Given the description of an element on the screen output the (x, y) to click on. 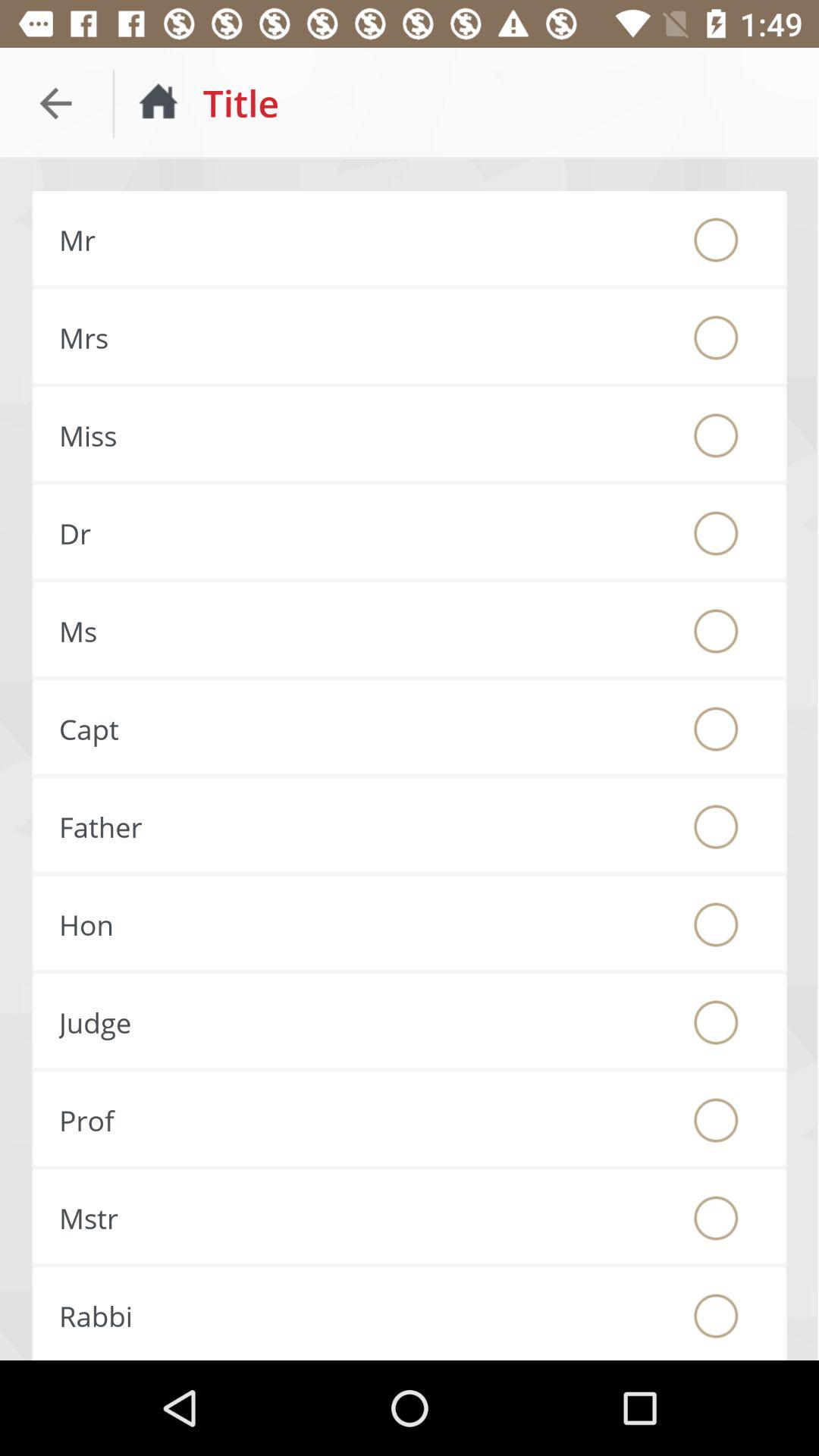
select the option (715, 435)
